Given the description of an element on the screen output the (x, y) to click on. 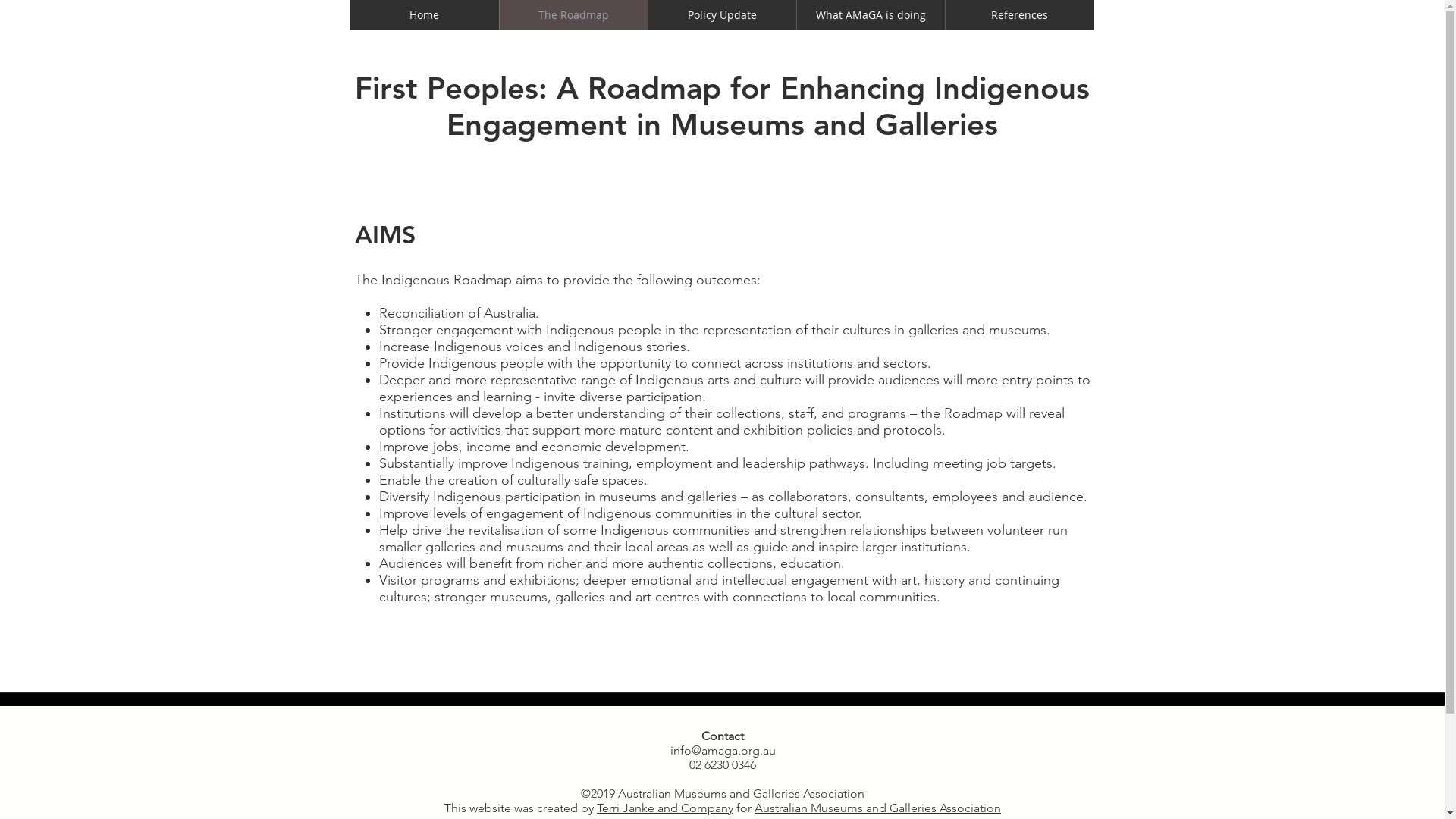
Home Element type: text (424, 15)
What AMaGA is doing Element type: text (870, 15)
Australian Museums and Galleries Association Element type: text (877, 807)
Policy Update Element type: text (721, 15)
The Roadmap Element type: text (572, 15)
Terri Janke and Company Element type: text (664, 807)
info@amaga.org.au Element type: text (722, 750)
